Given the description of an element on the screen output the (x, y) to click on. 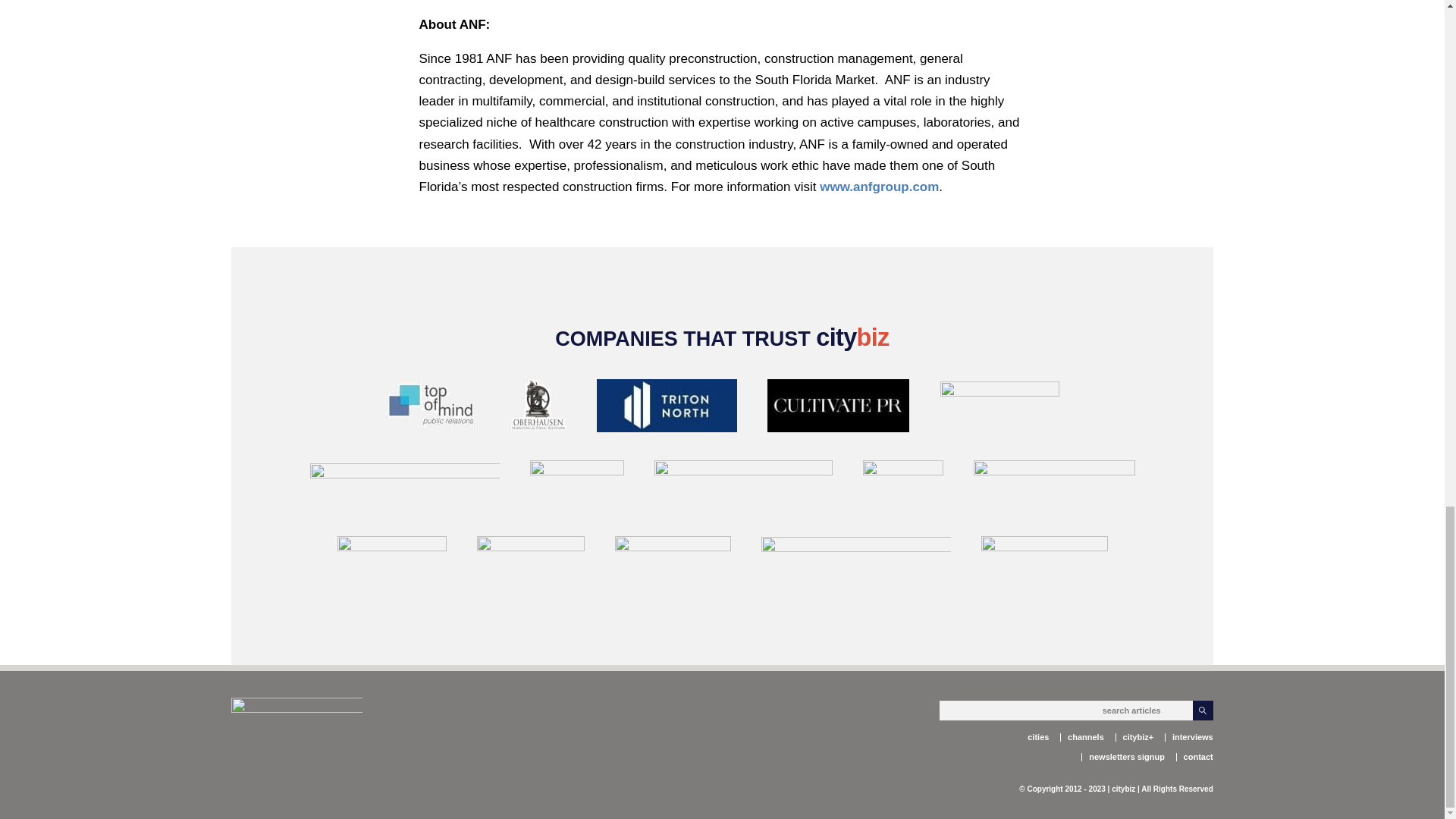
Rosy Strategies (999, 407)
Cultivate PR (838, 408)
Search (1202, 710)
Allegory PR Services (403, 487)
Triton North (665, 408)
LEFT Communication (903, 486)
Search (1202, 710)
Wander PR (742, 486)
Top of Mind PR (431, 408)
